Given the description of an element on the screen output the (x, y) to click on. 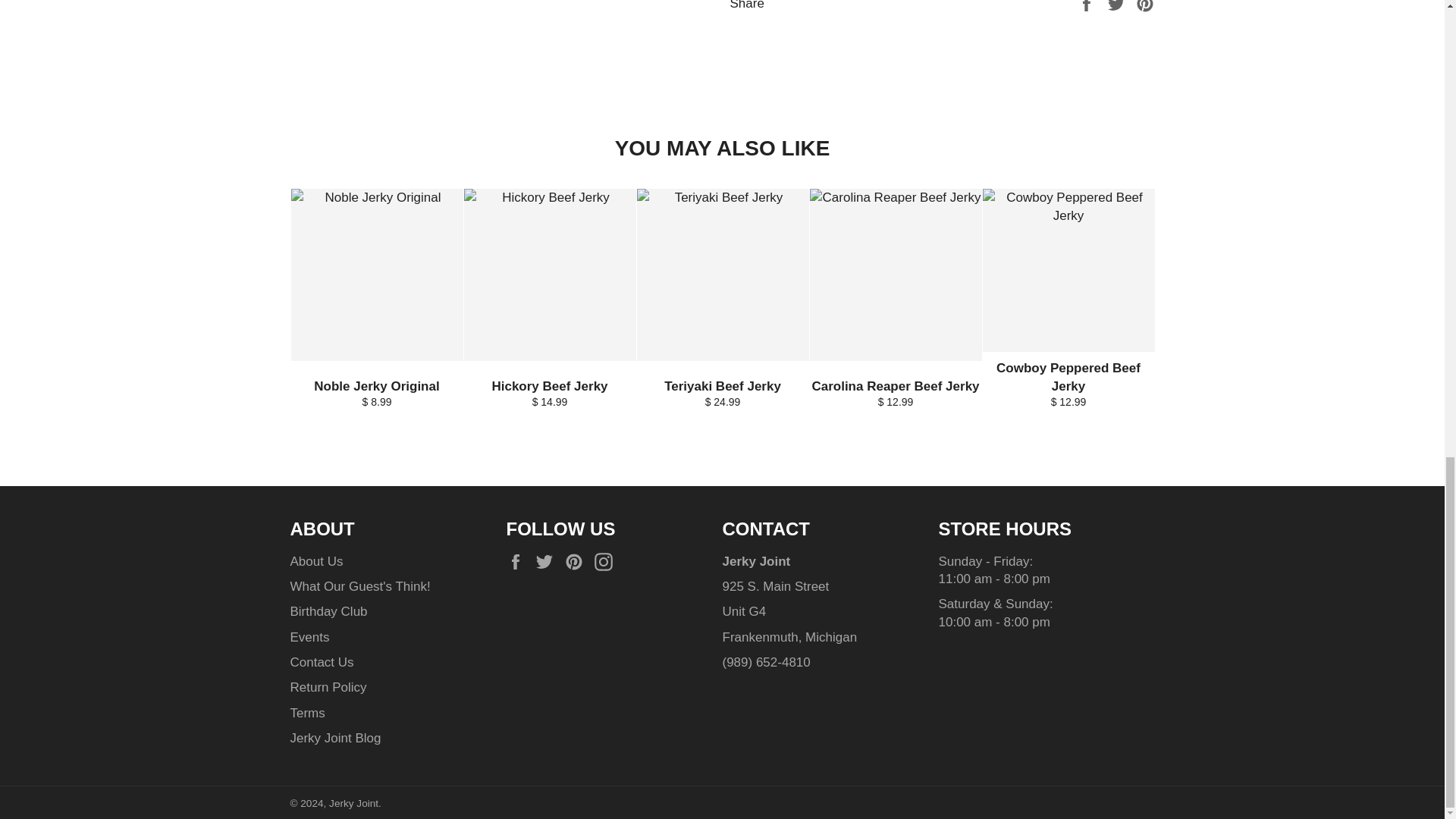
Share on Facebook (1088, 4)
Jerky Joint on Twitter (547, 561)
Pin on Pinterest (1144, 4)
Jerky Joint on Instagram (607, 561)
Jerky Joint on Facebook (519, 561)
Tweet on Twitter (1117, 4)
Jerky Joint on Pinterest (577, 561)
